Given the description of an element on the screen output the (x, y) to click on. 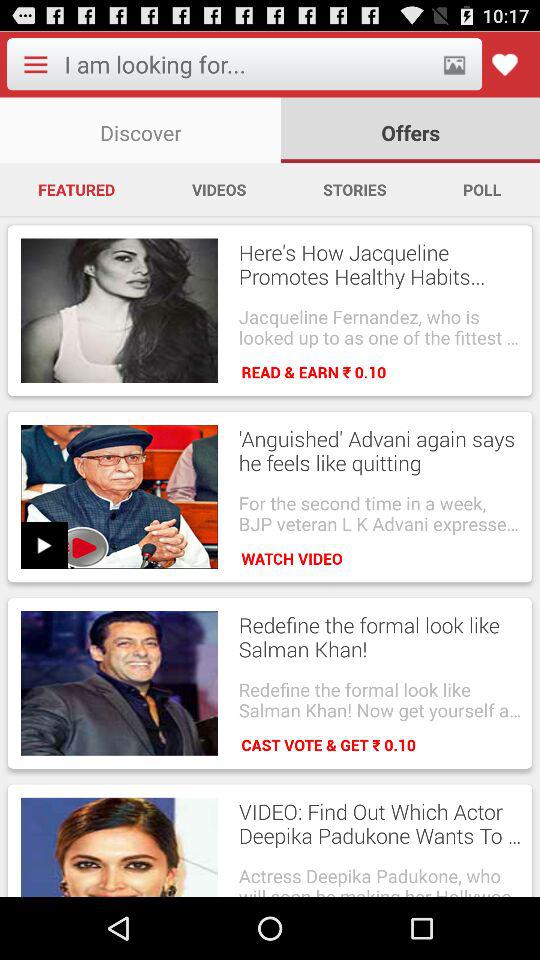
tap the icon to the left of the poll icon (354, 189)
